Given the description of an element on the screen output the (x, y) to click on. 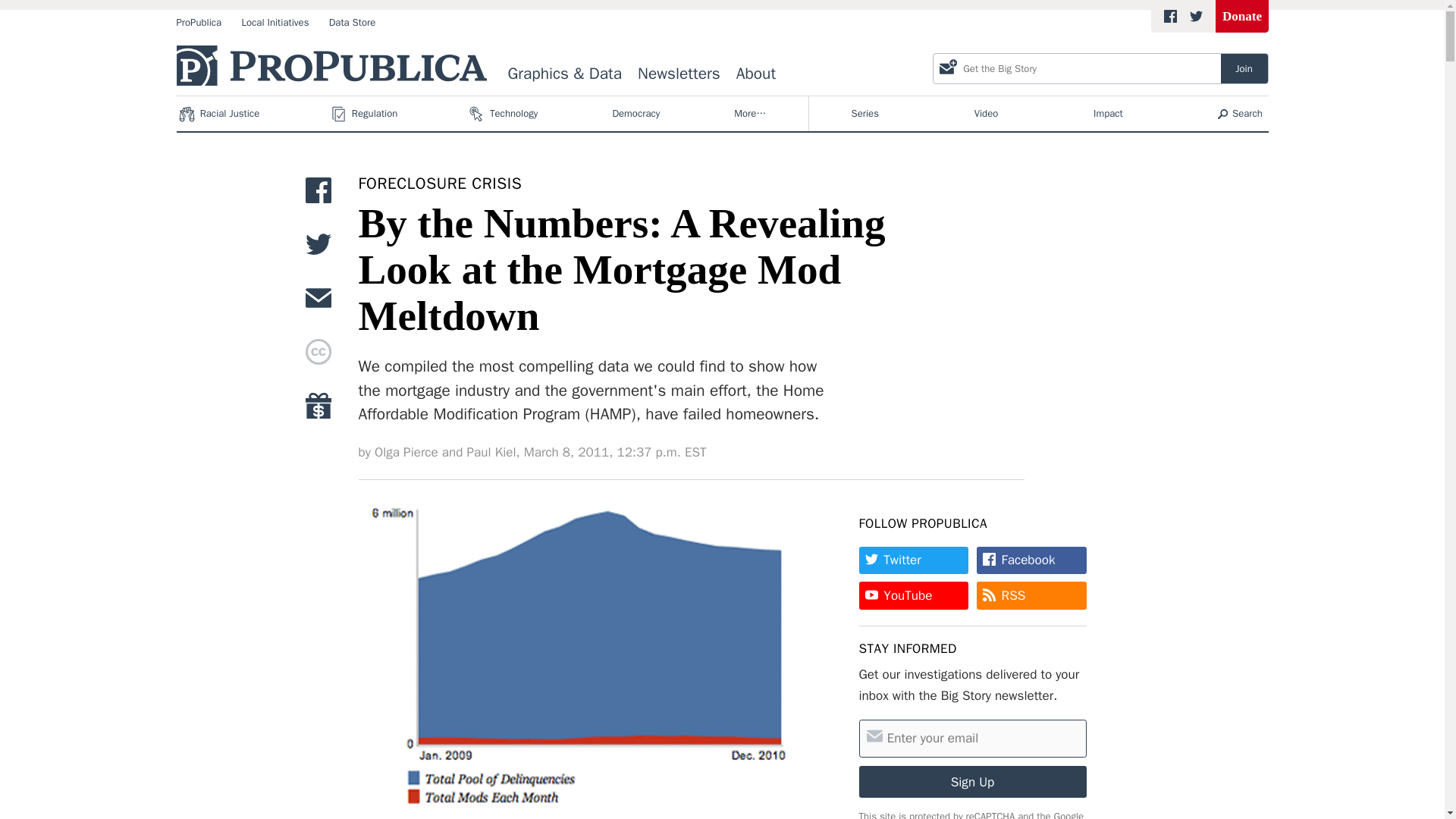
Newsletters (679, 74)
Video (986, 113)
Racial Justice (220, 113)
Join (1244, 68)
Paul Kiel (491, 452)
Impact (1107, 113)
Series (865, 113)
Regulation (366, 113)
ProPublica (198, 22)
Democracy (636, 113)
Join (1244, 68)
Technology (504, 113)
Sign Up (972, 781)
Olga Pierce (439, 183)
